Given the description of an element on the screen output the (x, y) to click on. 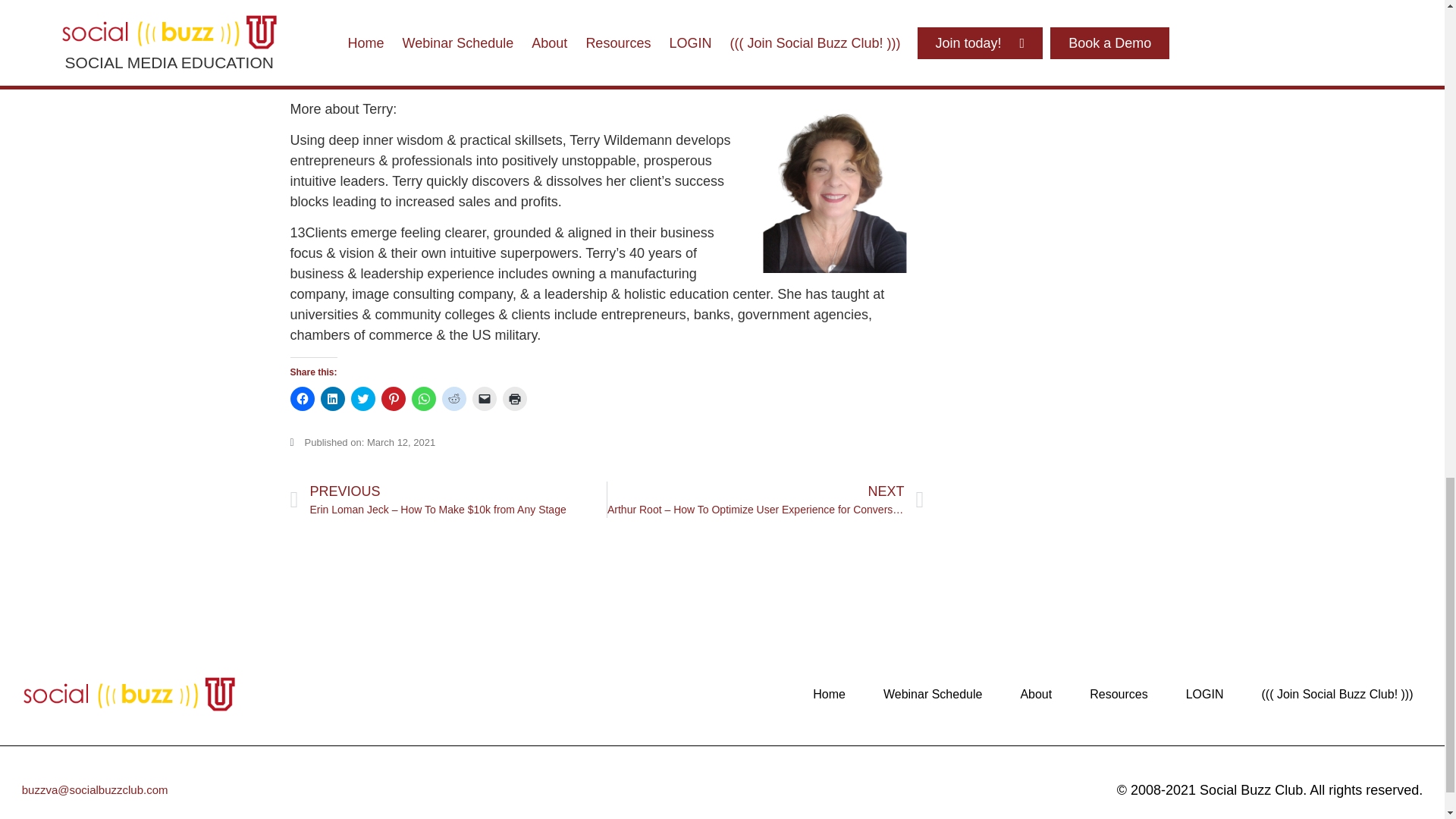
Click to share on Reddit (453, 398)
Click to print (513, 398)
Click to share on Pinterest (392, 398)
Click to share on LinkedIn (331, 398)
Click to share on Twitter (362, 398)
Click to share on WhatsApp (422, 398)
Click to email a link to a friend (483, 398)
Click to share on Facebook (301, 398)
